Given the description of an element on the screen output the (x, y) to click on. 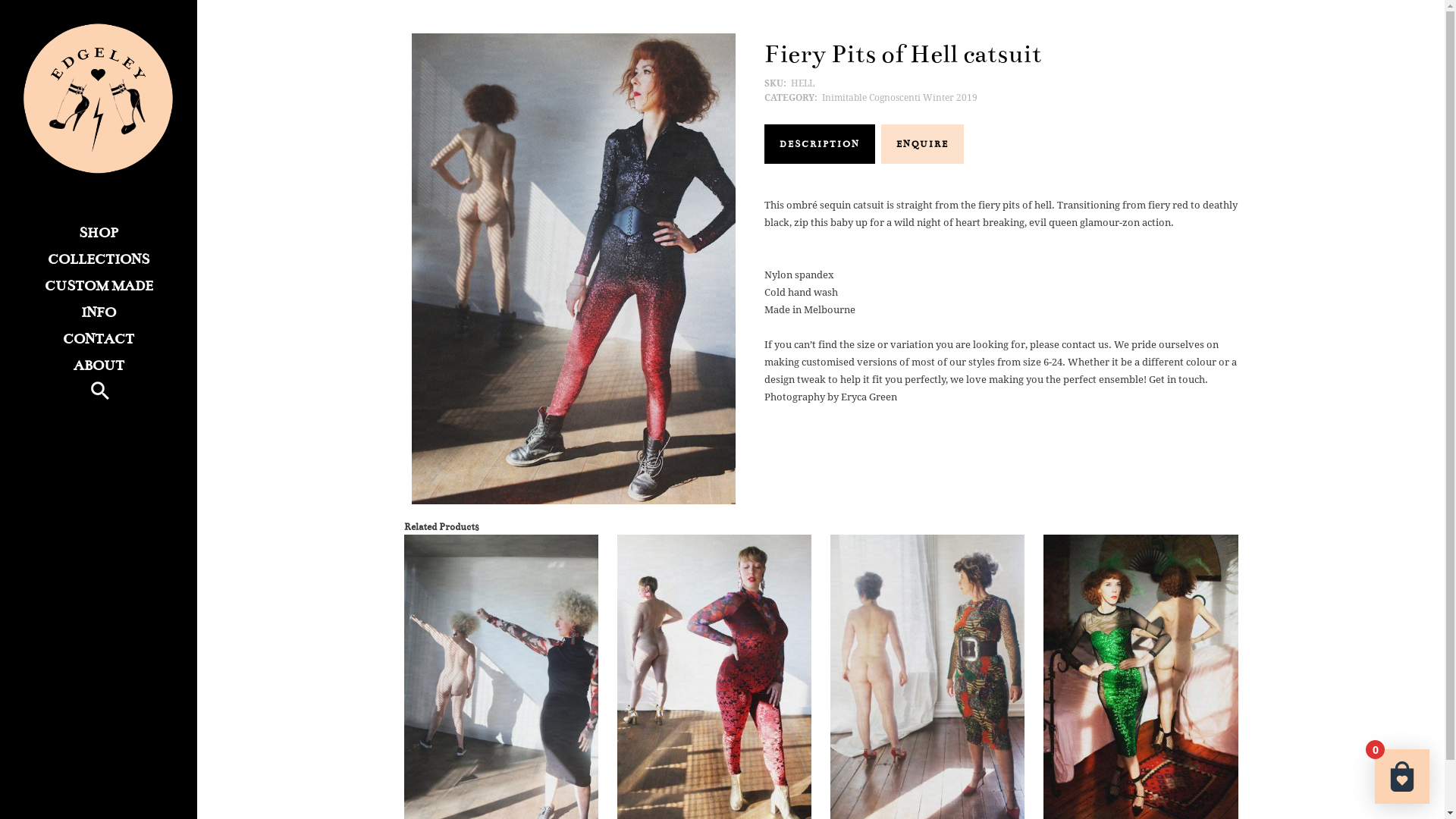
ombre sequin catsuit Element type: hover (572, 268)
CUSTOM MADE Element type: text (98, 286)
CONTACT Element type: text (98, 339)
0 Element type: text (1401, 776)
ABOUT Element type: text (98, 365)
SHOP Element type: text (98, 232)
DESCRIPTION Element type: text (819, 143)
COLLECTIONS Element type: text (98, 259)
Inimitable Cognoscenti Winter 2019 Element type: text (899, 97)
INFO Element type: text (98, 312)
ENQUIRE Element type: text (922, 143)
